Given the description of an element on the screen output the (x, y) to click on. 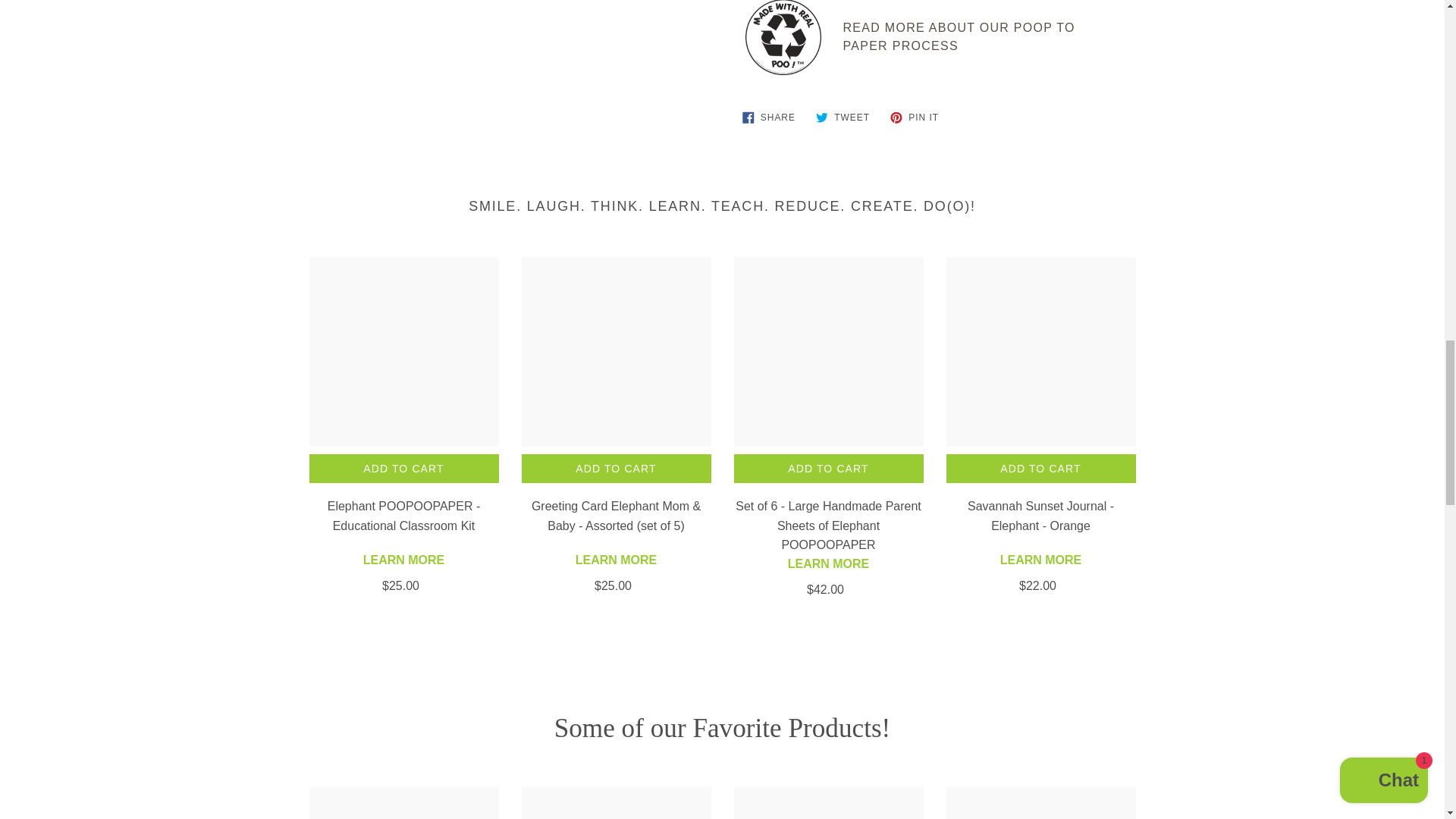
Add to Cart (403, 468)
Add to Cart (828, 468)
Add to Cart (1040, 468)
Add to Cart (616, 468)
POOPOOPAPER - The Poop to Paper Process (959, 40)
